Given the description of an element on the screen output the (x, y) to click on. 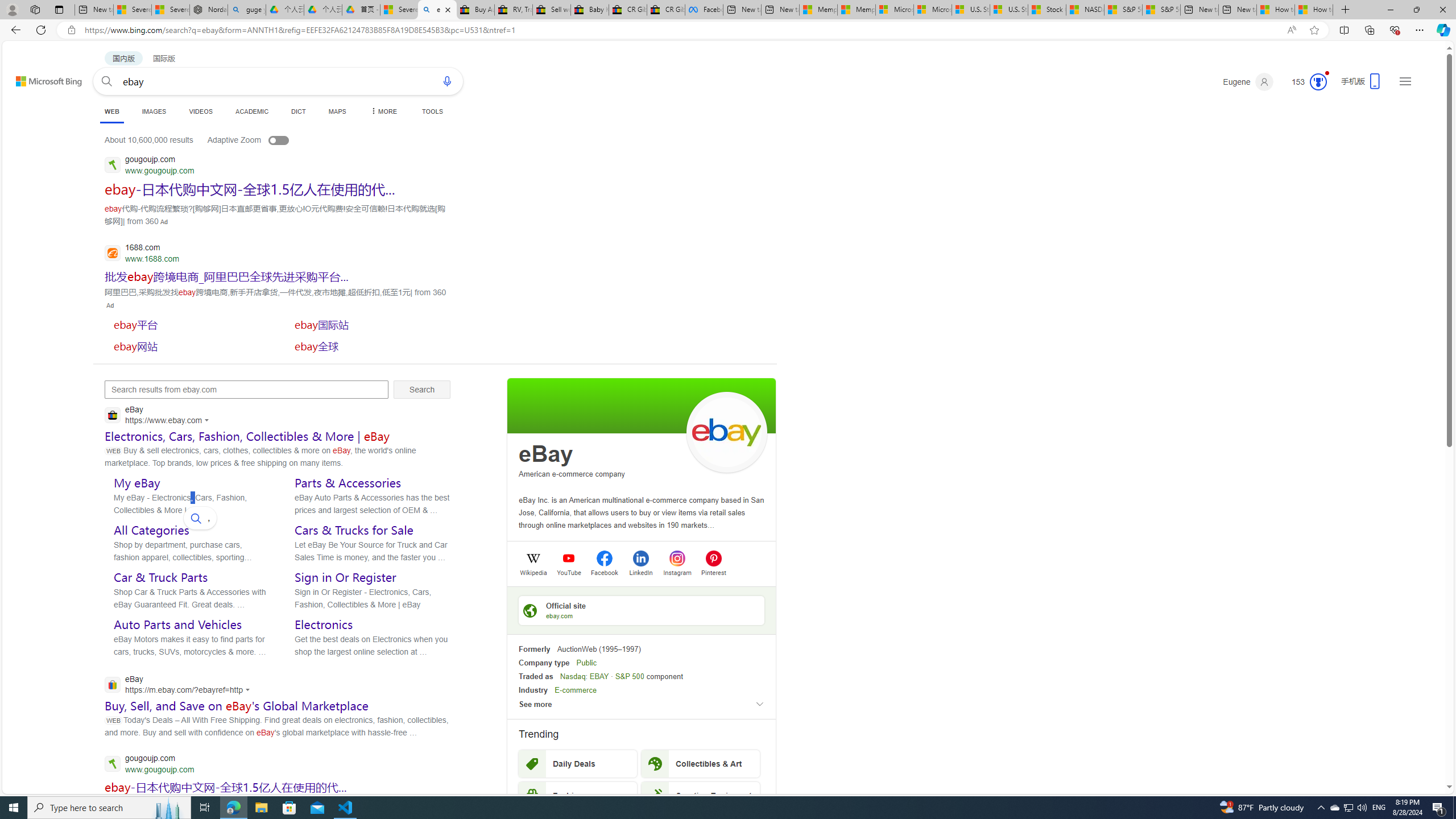
SERP,5714 (188, 345)
Traded as (535, 676)
Adaptive Zoom (259, 139)
Microsoft Rewards 153 (1304, 81)
Industry (533, 690)
Wikipedia (533, 571)
Daily Deals (577, 763)
